Given the description of an element on the screen output the (x, y) to click on. 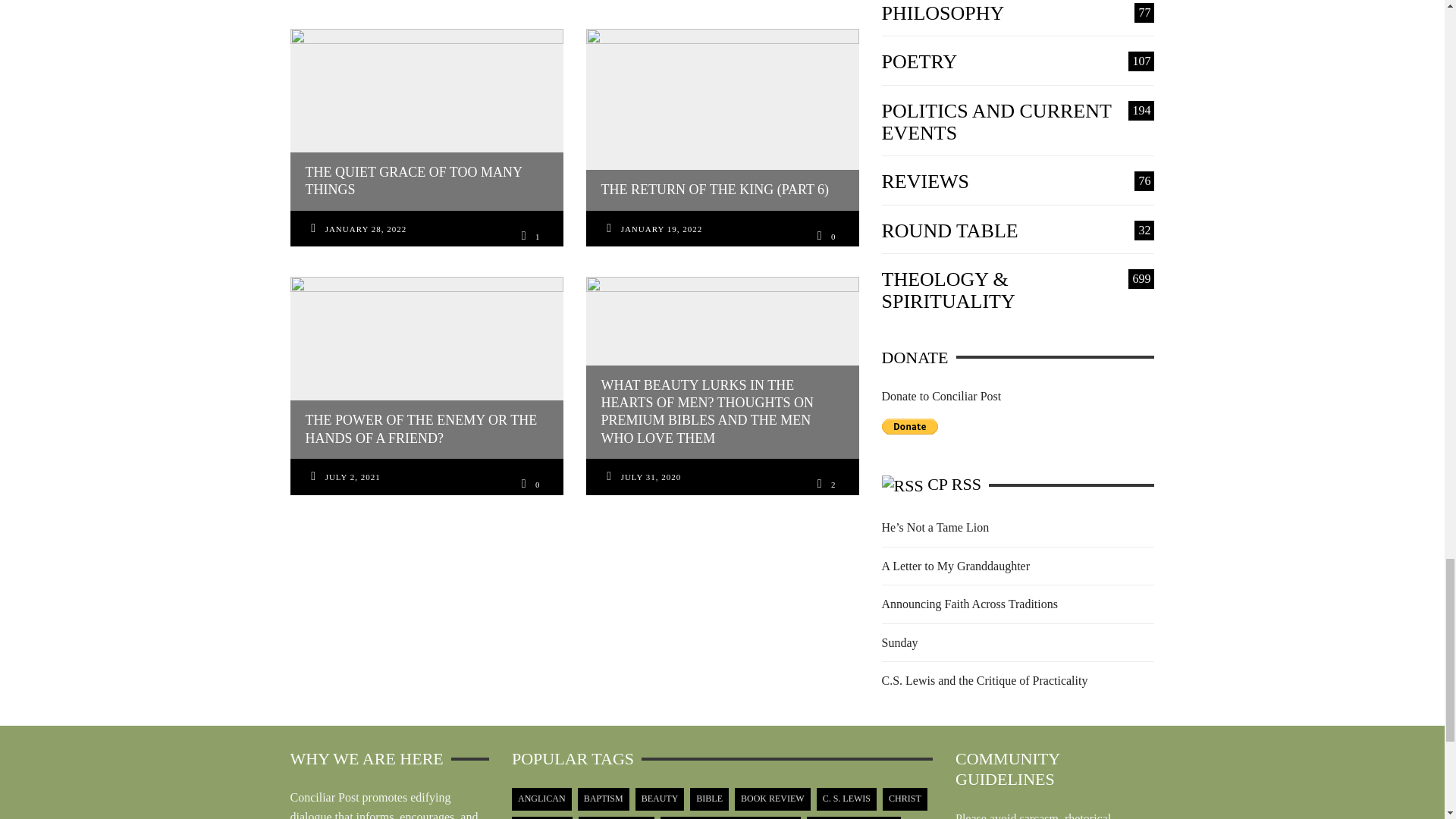
Permalink to The Quiet Grace of Too Many Things (365, 229)
